Given the description of an element on the screen output the (x, y) to click on. 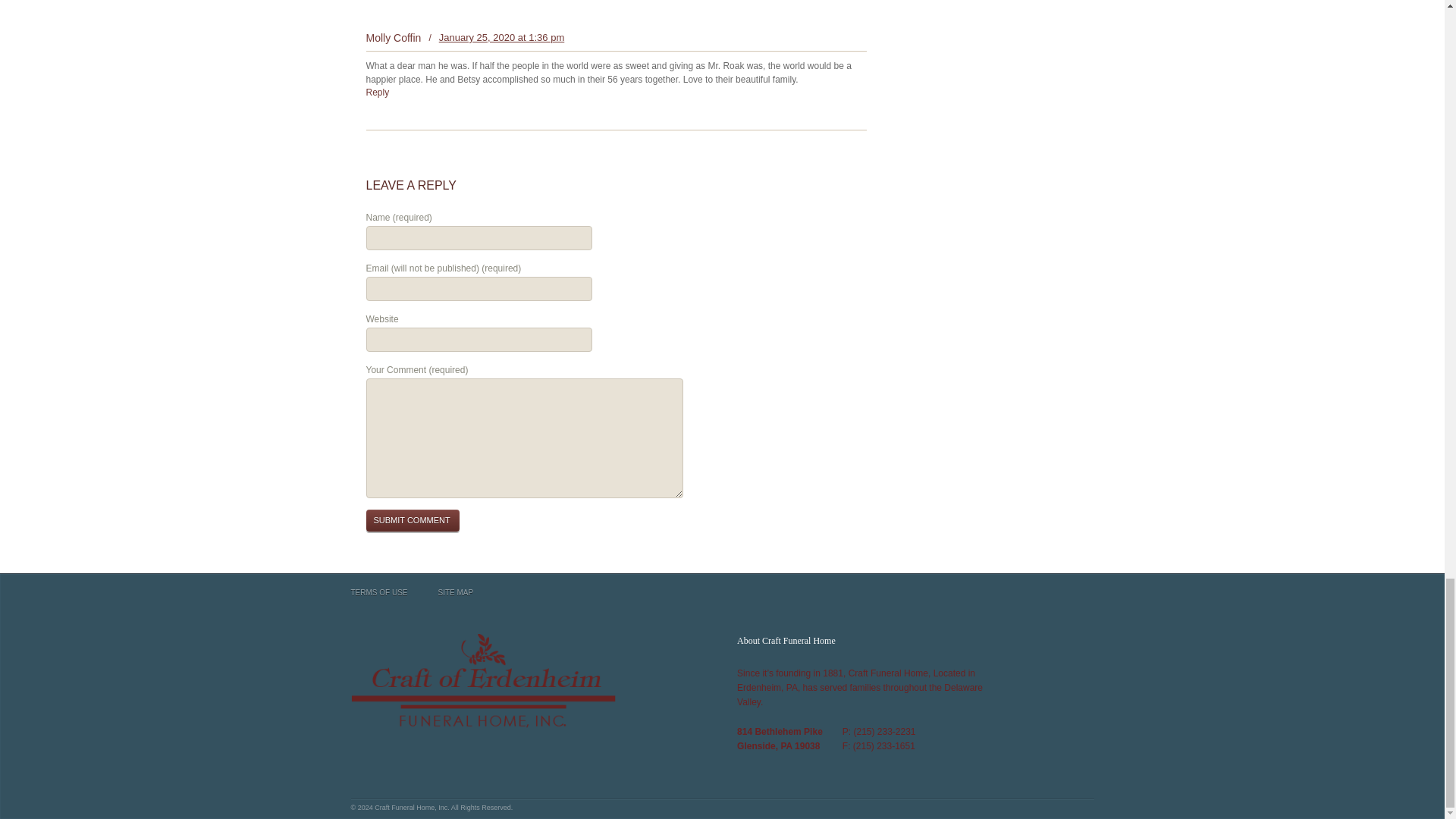
Submit Comment (411, 520)
Reply (376, 91)
SITE MAP (456, 592)
Submit Comment (411, 520)
January 25, 2020 at 1:36 pm (501, 37)
TERMS OF USE (378, 592)
